Given the description of an element on the screen output the (x, y) to click on. 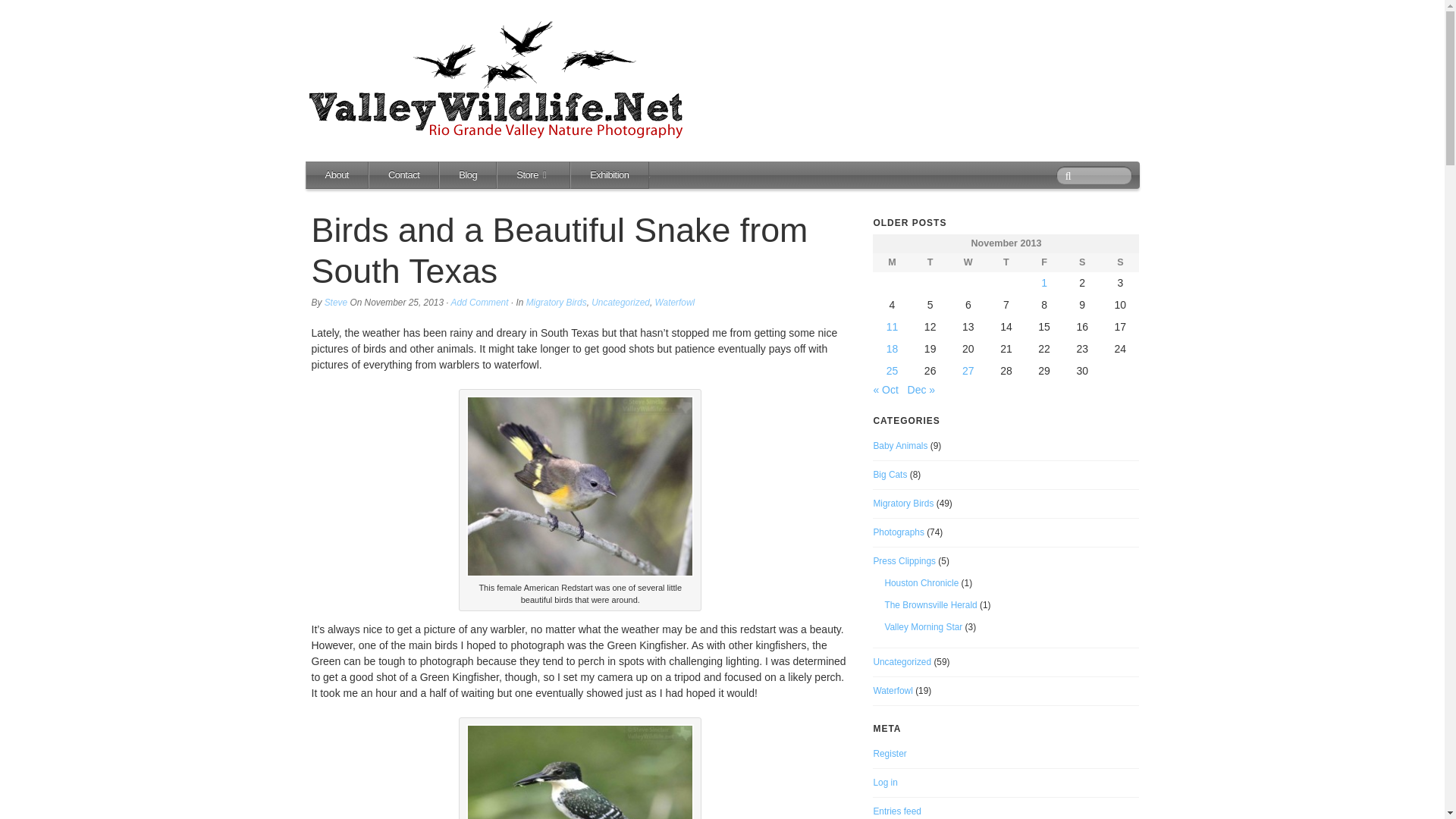
Store (533, 175)
Uncategorized (620, 302)
Exhibition (608, 175)
Waterfowl (675, 302)
About (336, 175)
Monday (891, 262)
Blog (467, 175)
Migratory Birds (555, 302)
Contact (403, 175)
Add Comment (479, 302)
